Given the description of an element on the screen output the (x, y) to click on. 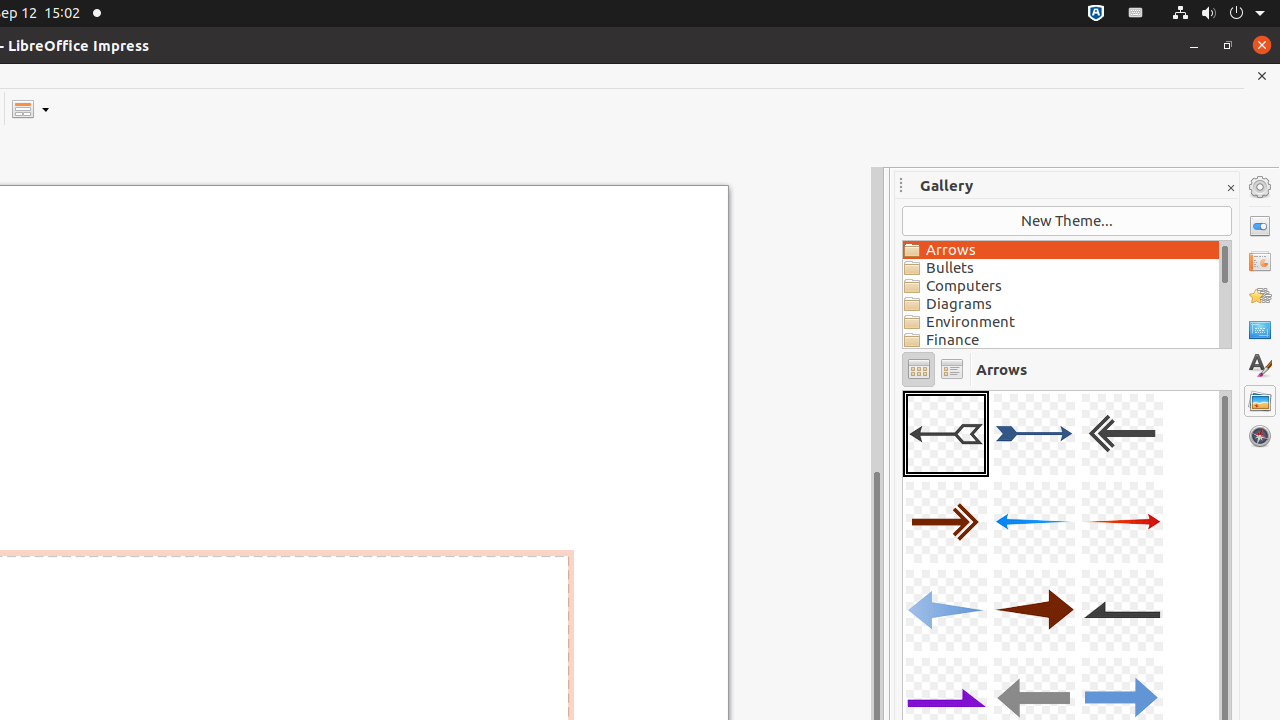
Icon View Element type: toggle-button (918, 369)
Master Slides Element type: radio-button (1260, 331)
Diagrams Element type: list-item (1061, 304)
A36-CurvedArrow-LightBlue-Up Element type: list-item (903, 390)
A06-Arrow-Red-Right Element type: list-item (1122, 522)
